Given the description of an element on the screen output the (x, y) to click on. 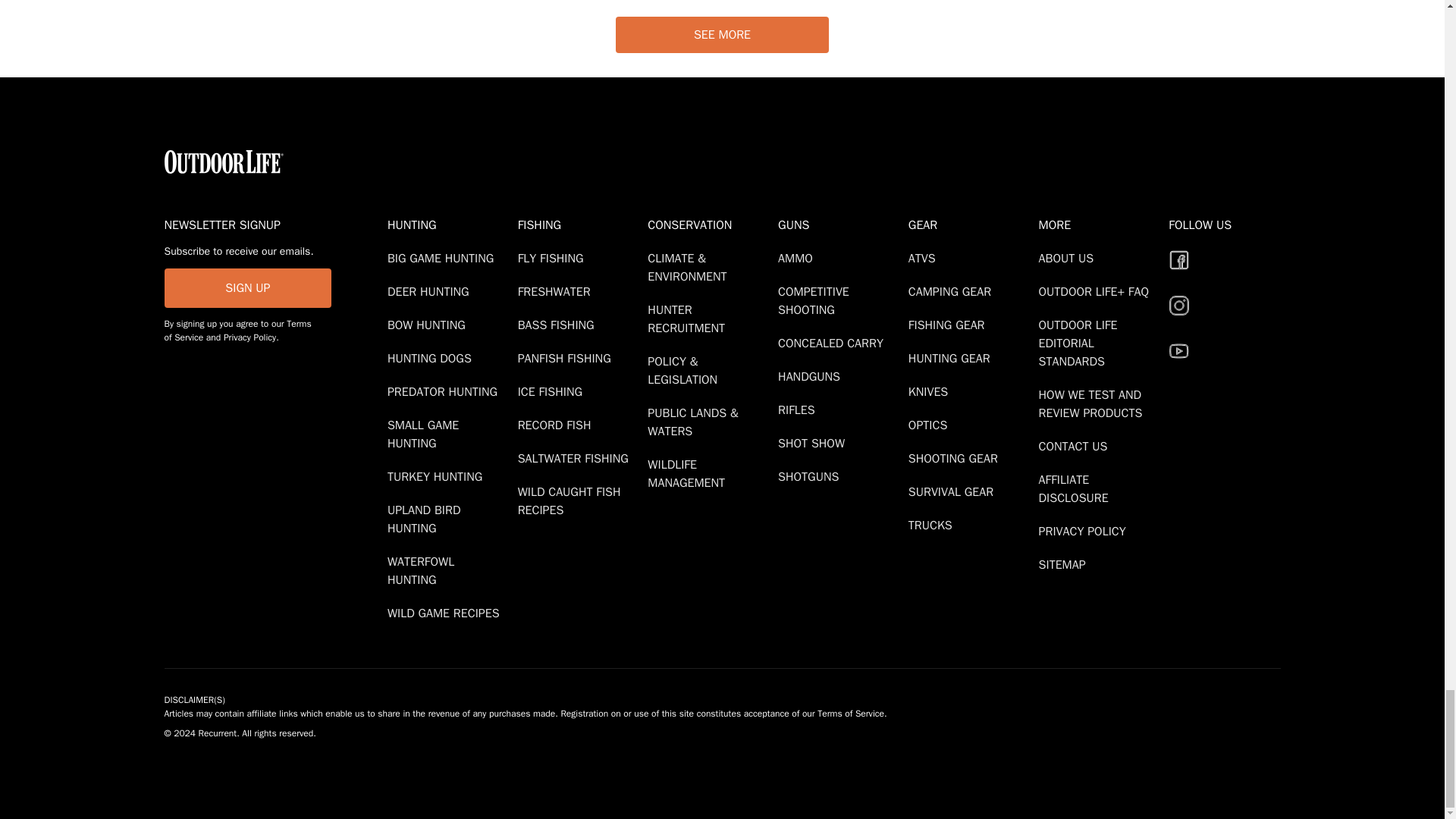
Hunting (449, 225)
Fishing (580, 225)
Conservation (709, 225)
Fly Fishing (553, 258)
Big Game Hunting (443, 258)
Deer Hunting (431, 291)
